Given the description of an element on the screen output the (x, y) to click on. 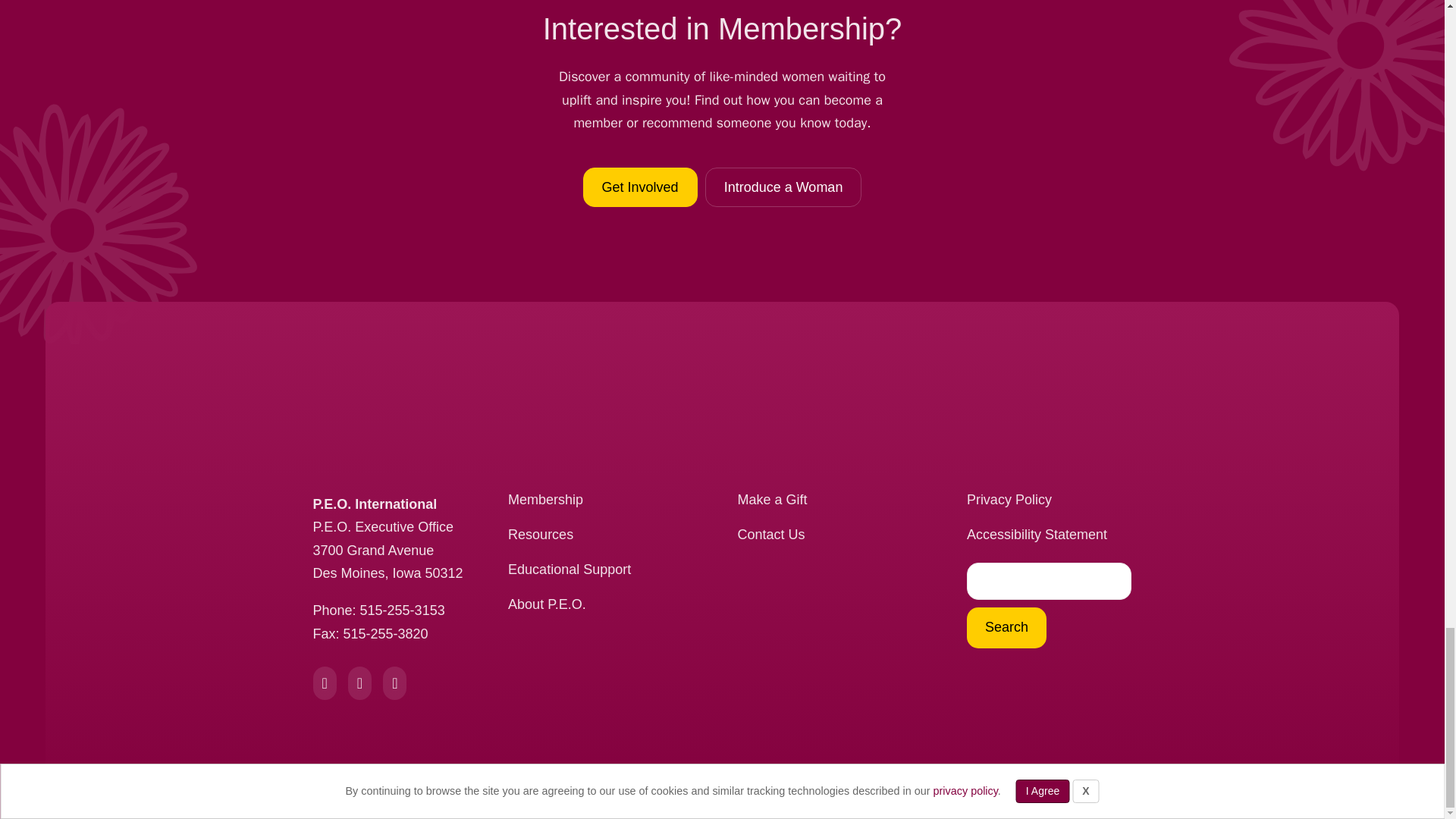
Search (1006, 627)
